Given the description of an element on the screen output the (x, y) to click on. 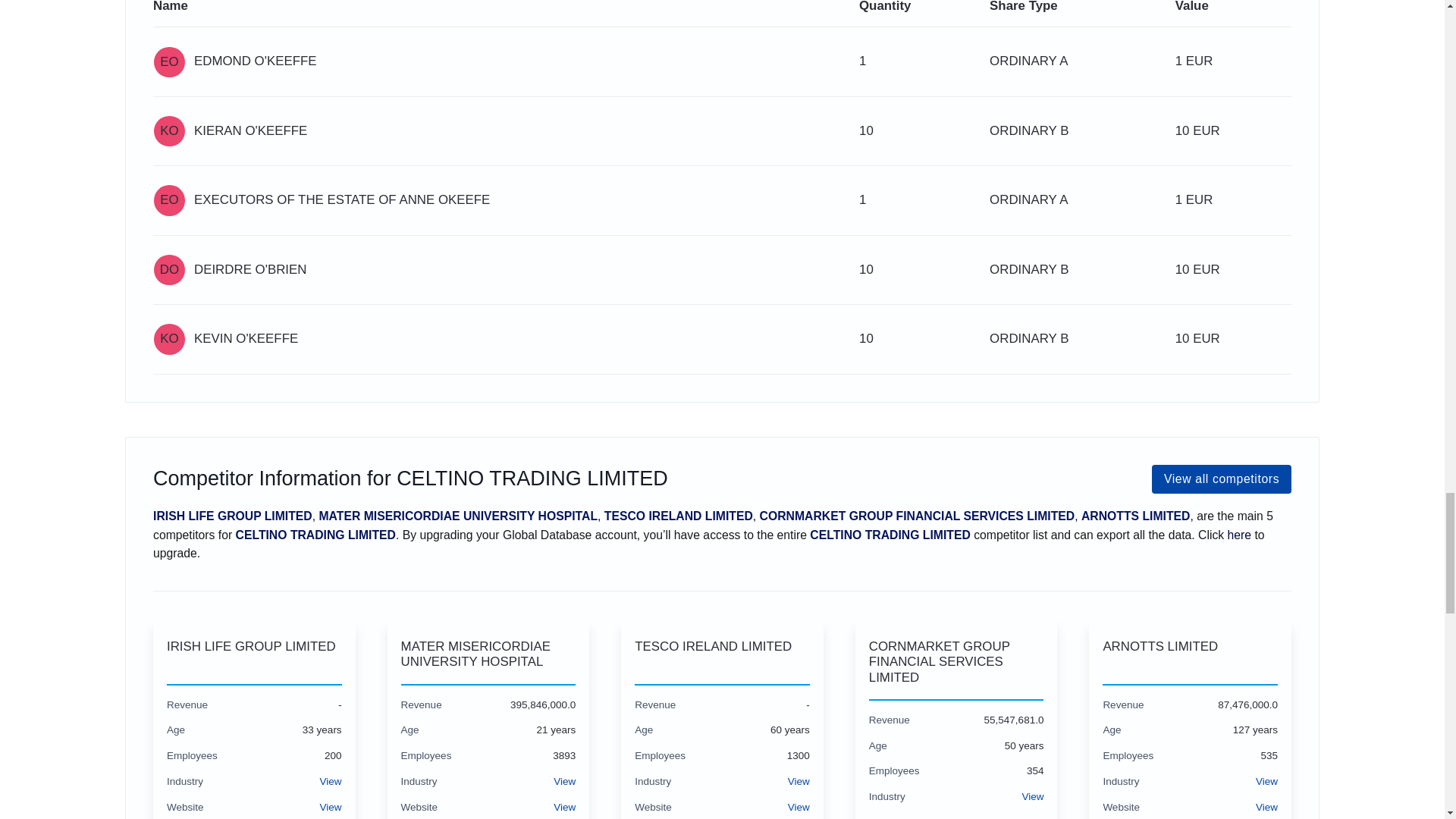
MATER MISERICORDIAE UNIVERSITY HOSPITAL (488, 654)
TESCO IRELAND LIMITED (721, 654)
IRISH LIFE GROUP LIMITED (254, 654)
ARNOTTS LIMITED (1190, 654)
CORNMARKET GROUP FINANCIAL SERVICES LIMITED (956, 662)
